Given the description of an element on the screen output the (x, y) to click on. 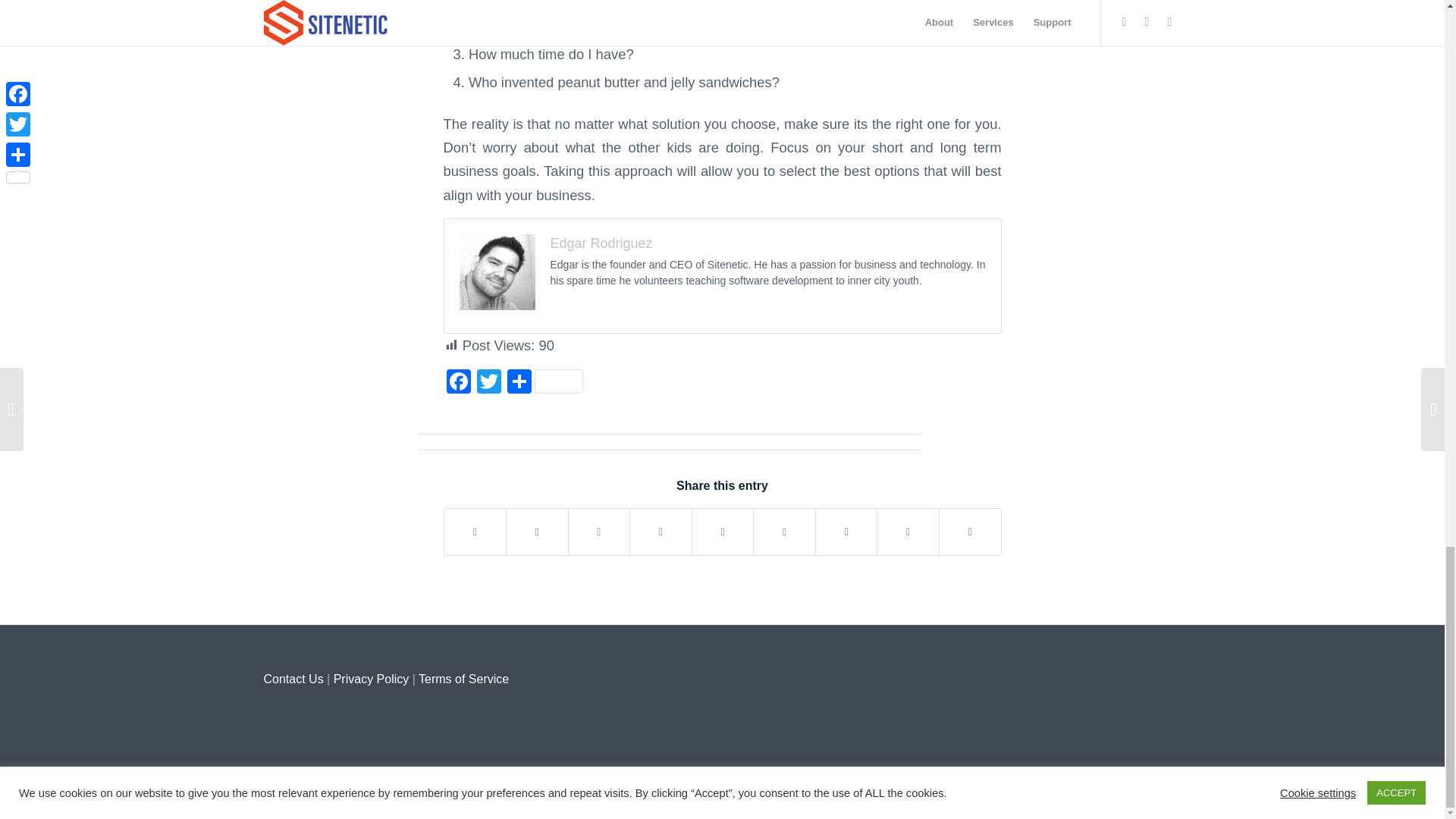
Privacy Policy (371, 678)
Facebook (457, 383)
Contact Us (293, 678)
Terms of Service (463, 678)
Edgar Rodriguez (601, 242)
Facebook (457, 383)
Twitter (488, 383)
Twitter (488, 383)
